Given the description of an element on the screen output the (x, y) to click on. 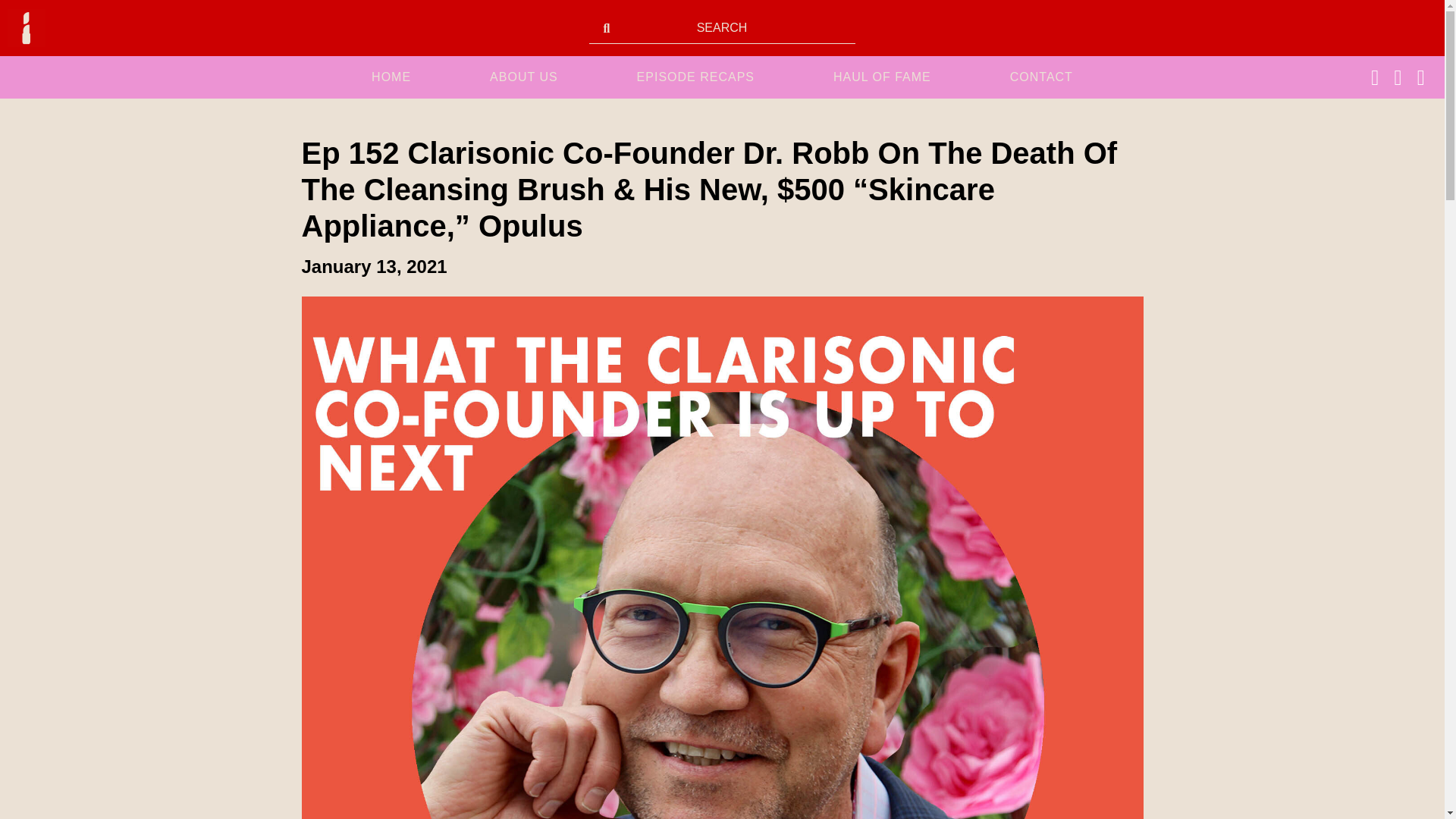
EPISODE RECAPS (695, 77)
CONTACT (1041, 77)
HAUL OF FAME (882, 77)
ABOUT US (523, 77)
HOME (390, 77)
